Given the description of an element on the screen output the (x, y) to click on. 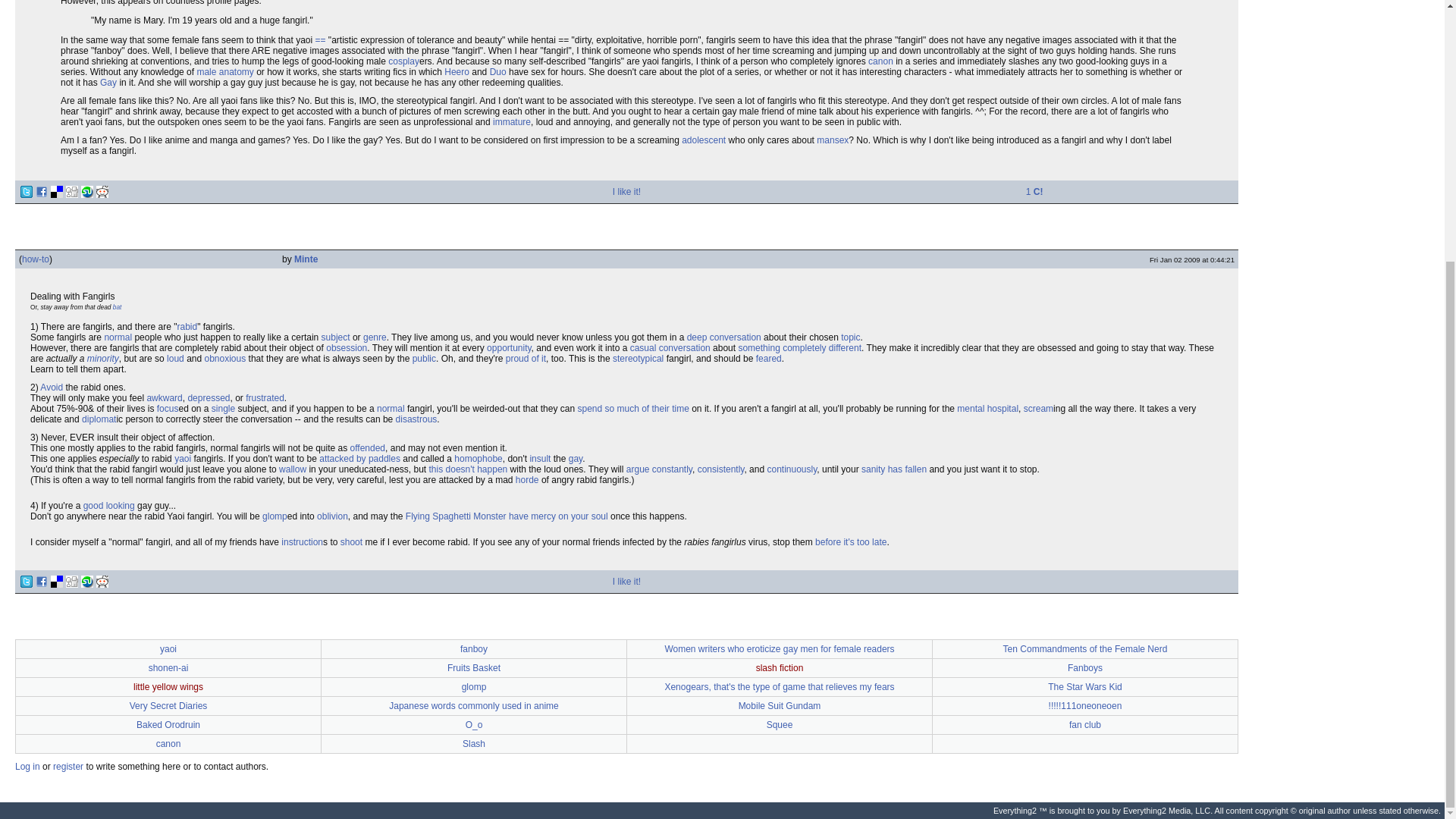
mansex (832, 140)
Gay (108, 81)
how-to (35, 258)
canon (880, 61)
male anatomy (224, 71)
cosplay (403, 61)
I like it! (626, 191)
adolescent (703, 140)
1 C! (1034, 191)
Heero (456, 71)
